Given the description of an element on the screen output the (x, y) to click on. 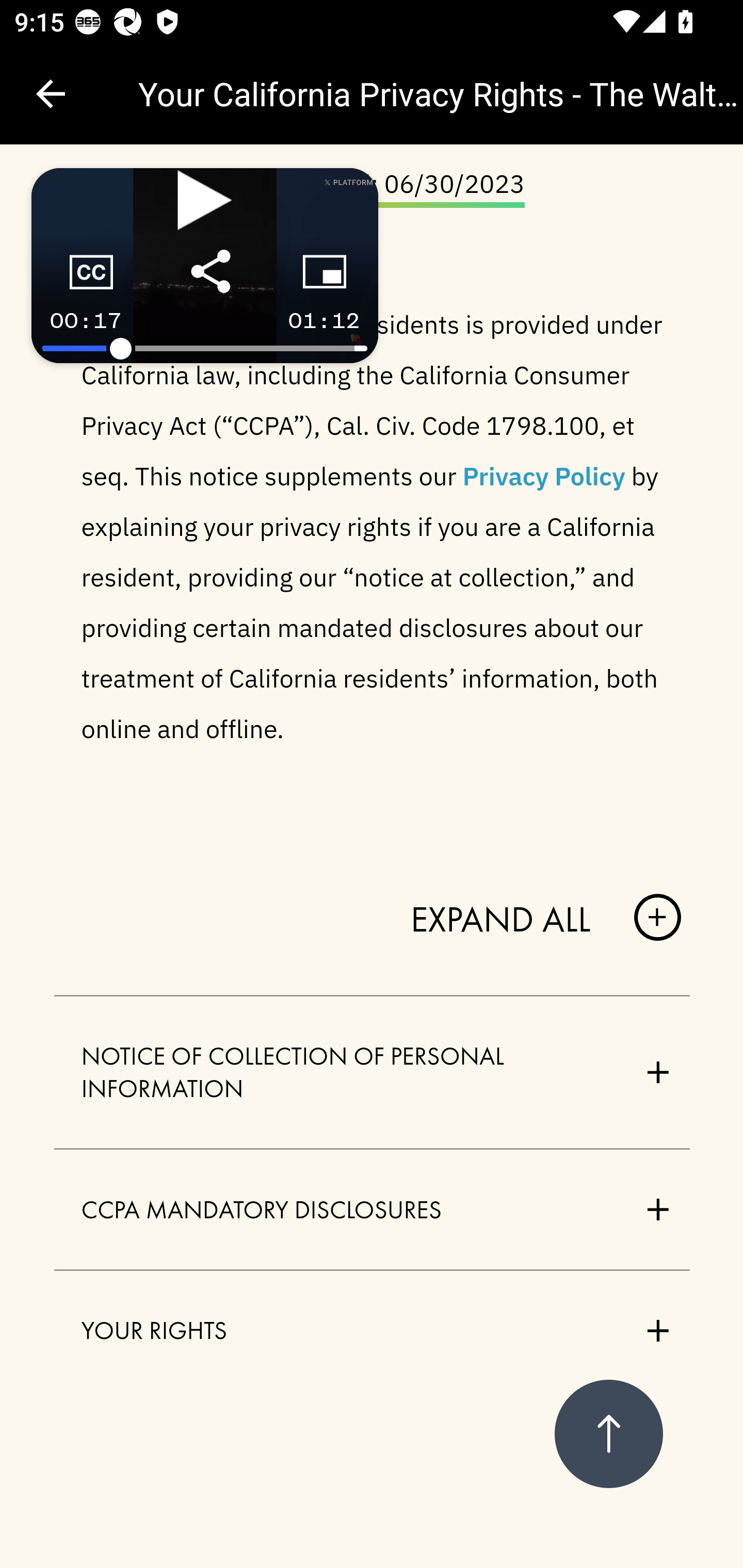
Navigate up (50, 93)
Privacy Policy (544, 474)
EXPAND ALL (545, 919)
ACCORDION TOGGLE CCPA MANDATORY DISCLOSURES (372, 1209)
ACCORDION TOGGLE YOUR RIGHTS (372, 1330)
Back to Top back-to-top Back to Top back-to-top (608, 1434)
